Given the description of an element on the screen output the (x, y) to click on. 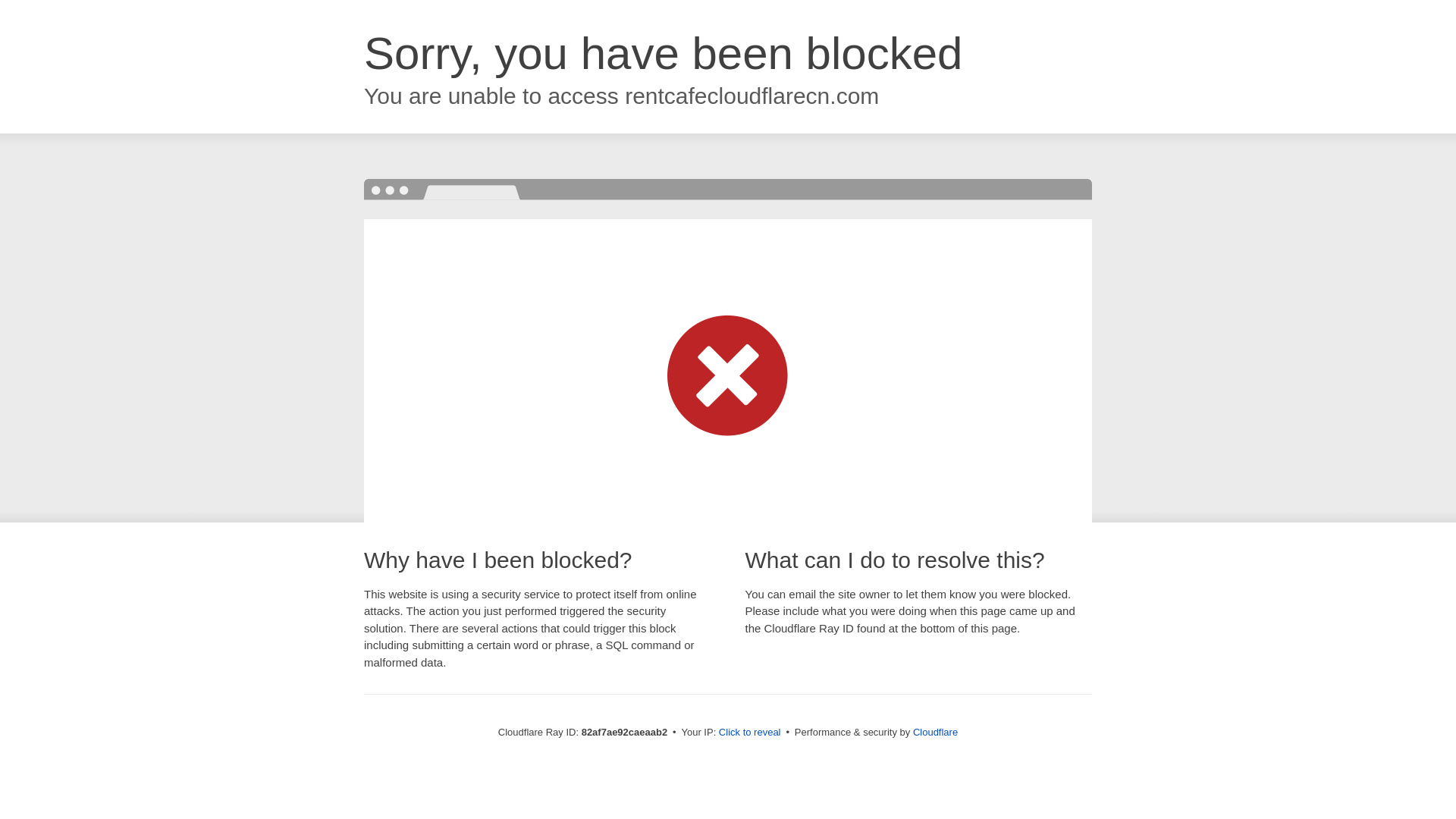
Click to reveal Element type: text (749, 732)
Cloudflare Element type: text (935, 731)
